Given the description of an element on the screen output the (x, y) to click on. 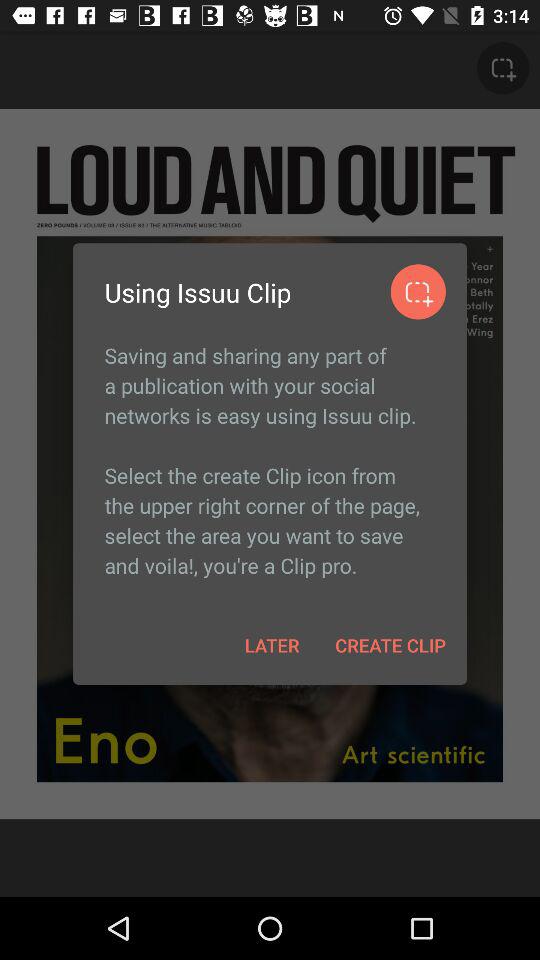
click icon at the center (269, 460)
